Given the description of an element on the screen output the (x, y) to click on. 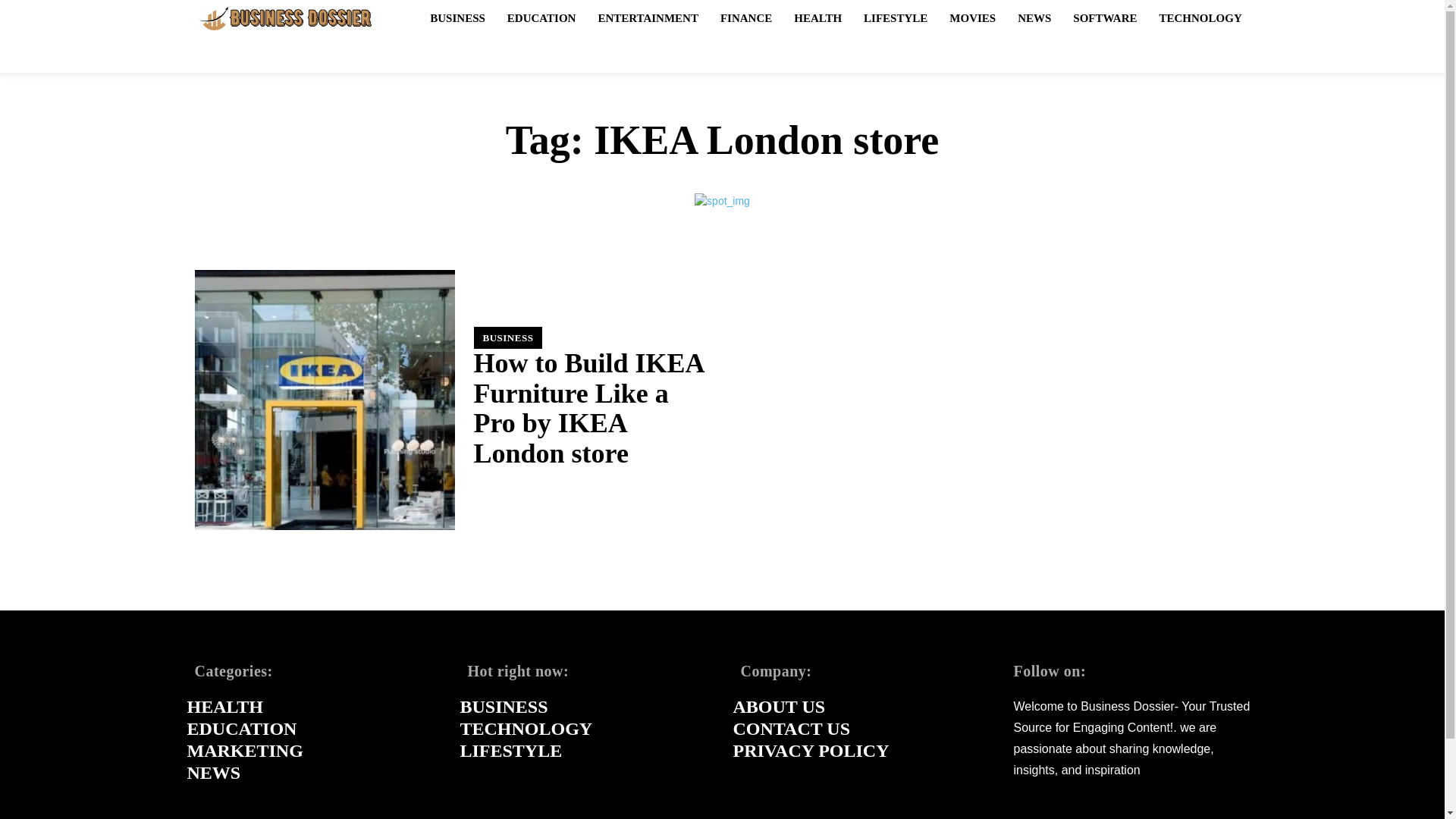
BUSINESS (507, 337)
SOFTWARE (1104, 17)
FINANCE (745, 17)
BUSINESS (457, 17)
ENTERTAINMENT (647, 17)
HEALTH (817, 17)
TECHNOLOGY (1200, 17)
EDUCATION (541, 17)
How to Build IKEA Furniture Like a Pro by IKEA London store (323, 399)
LIFESTYLE (895, 17)
